Given the description of an element on the screen output the (x, y) to click on. 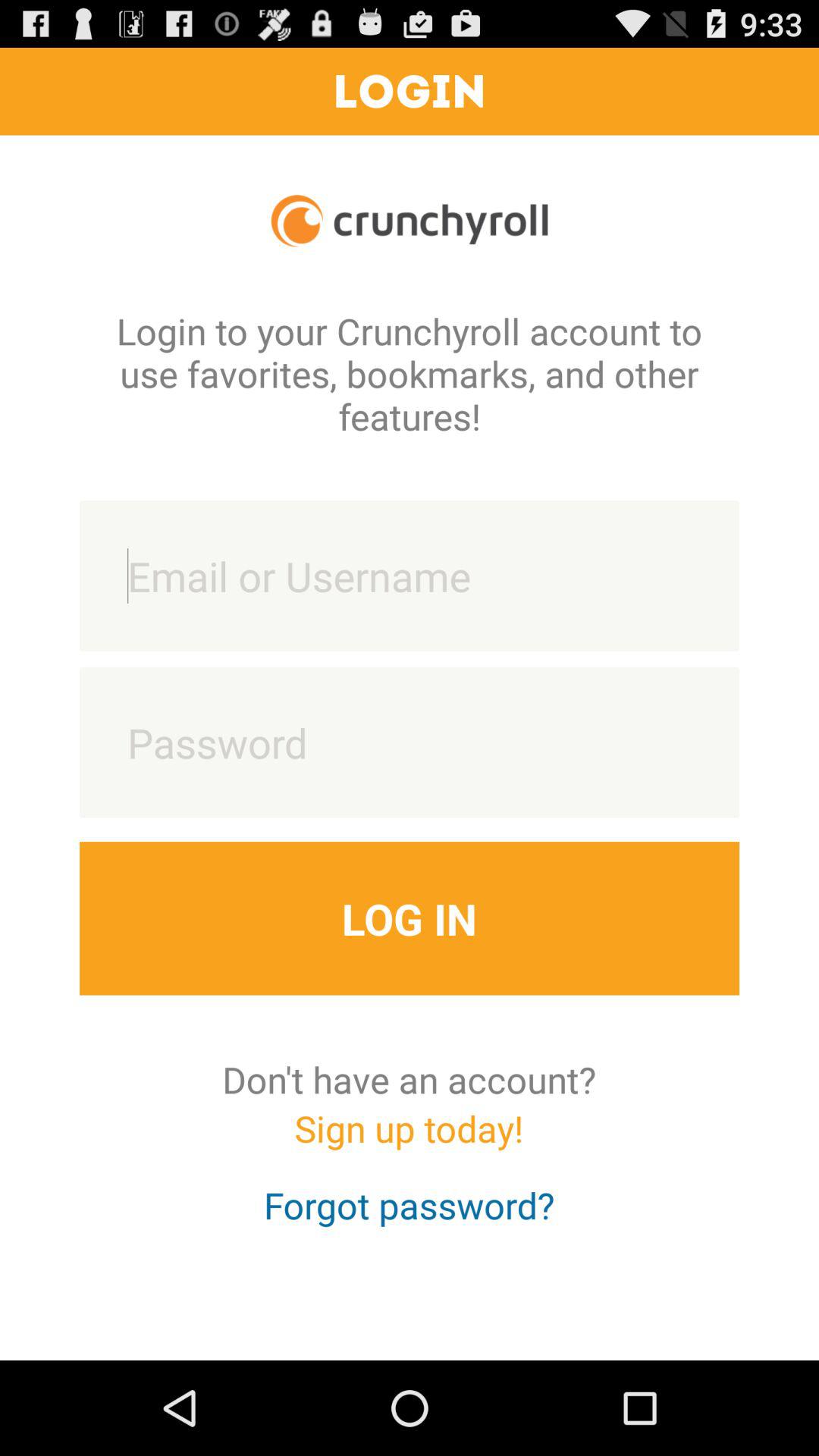
turn on icon below the sign up today! (408, 1218)
